Given the description of an element on the screen output the (x, y) to click on. 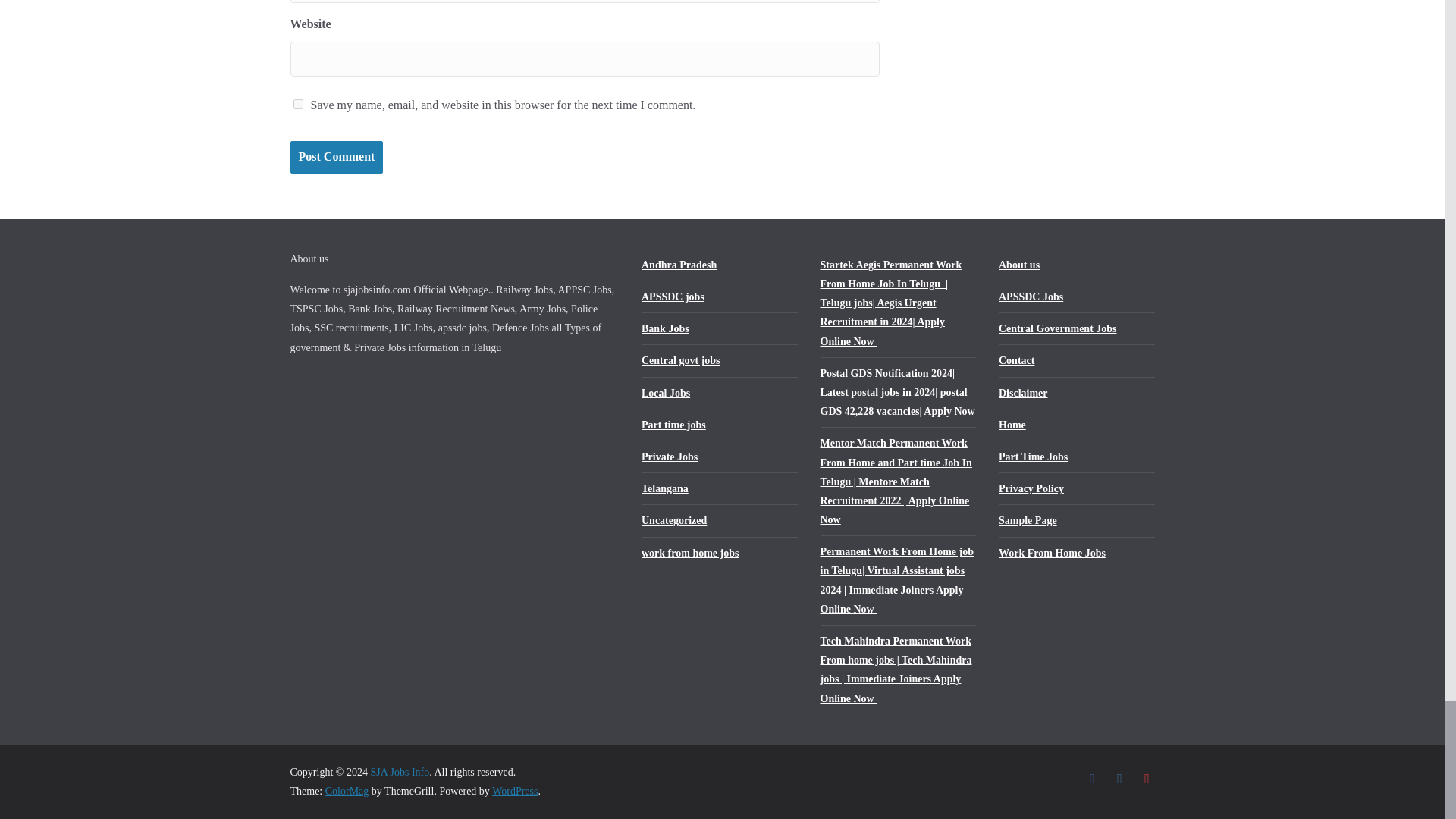
yes (297, 103)
Post Comment (335, 156)
Post Comment (335, 156)
